Given the description of an element on the screen output the (x, y) to click on. 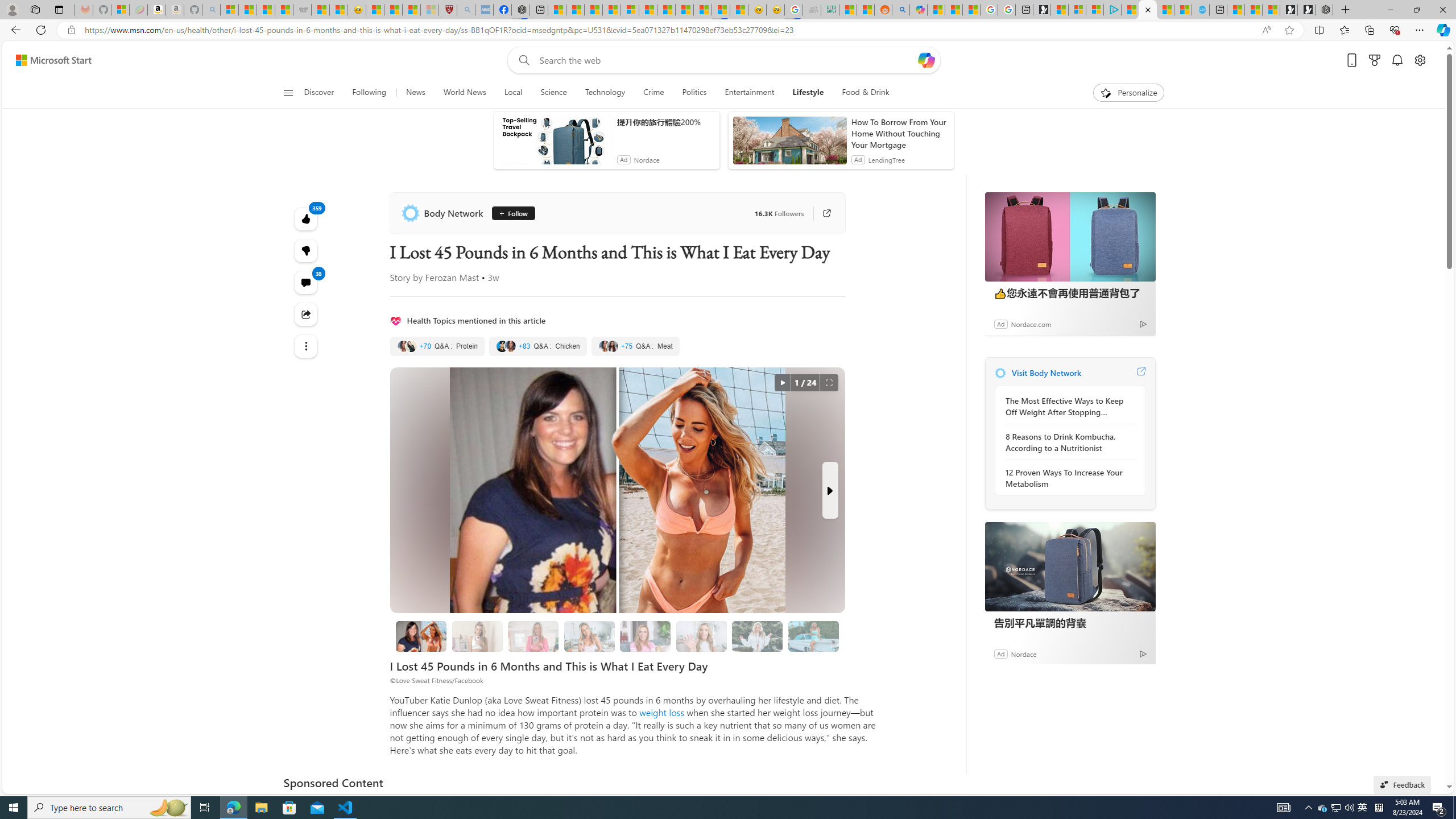
12 Popular Science Lies that Must be Corrected - Sleeping (430, 9)
Protein (437, 346)
Full screen (828, 382)
